Given the description of an element on the screen output the (x, y) to click on. 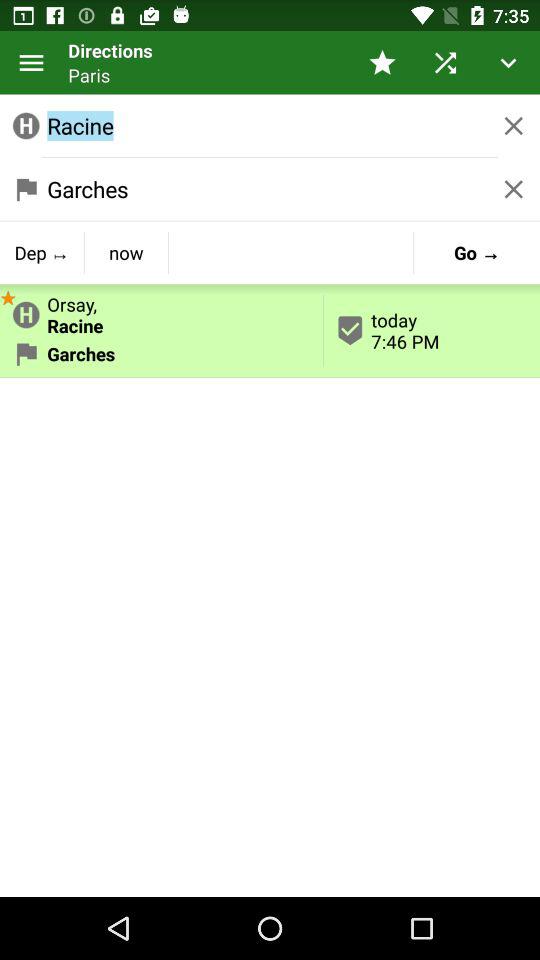
jump to the today 7 46 item (432, 330)
